Given the description of an element on the screen output the (x, y) to click on. 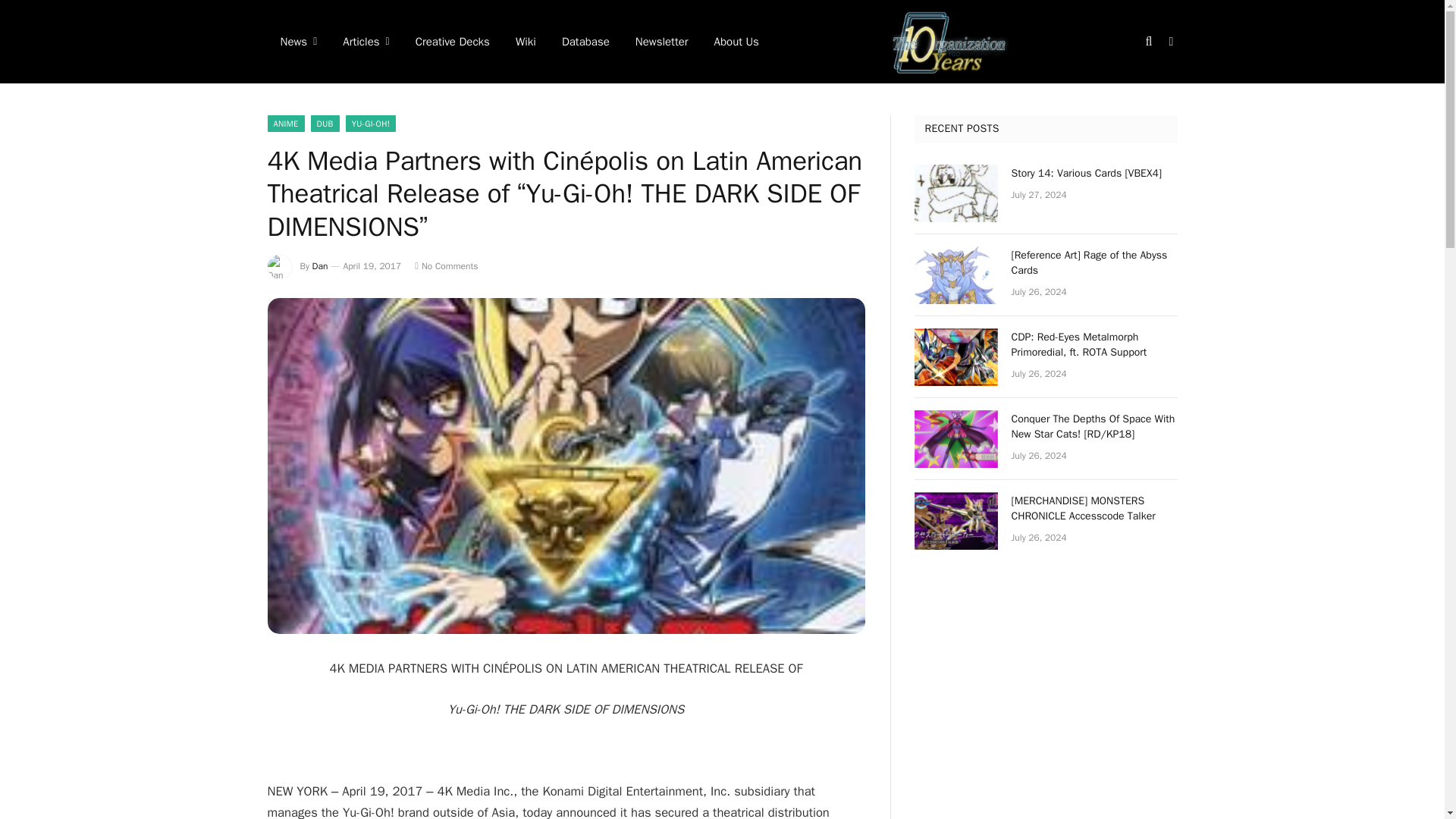
Switch to Dark Design - easier on eyes. (1168, 41)
No Comments (445, 265)
Posts by Dan (321, 265)
YU-GI-OH! (371, 123)
Dan (321, 265)
Creative Decks (452, 41)
YGOrganization (948, 41)
Newsletter (662, 41)
DUB (325, 123)
ANIME (285, 123)
